Given the description of an element on the screen output the (x, y) to click on. 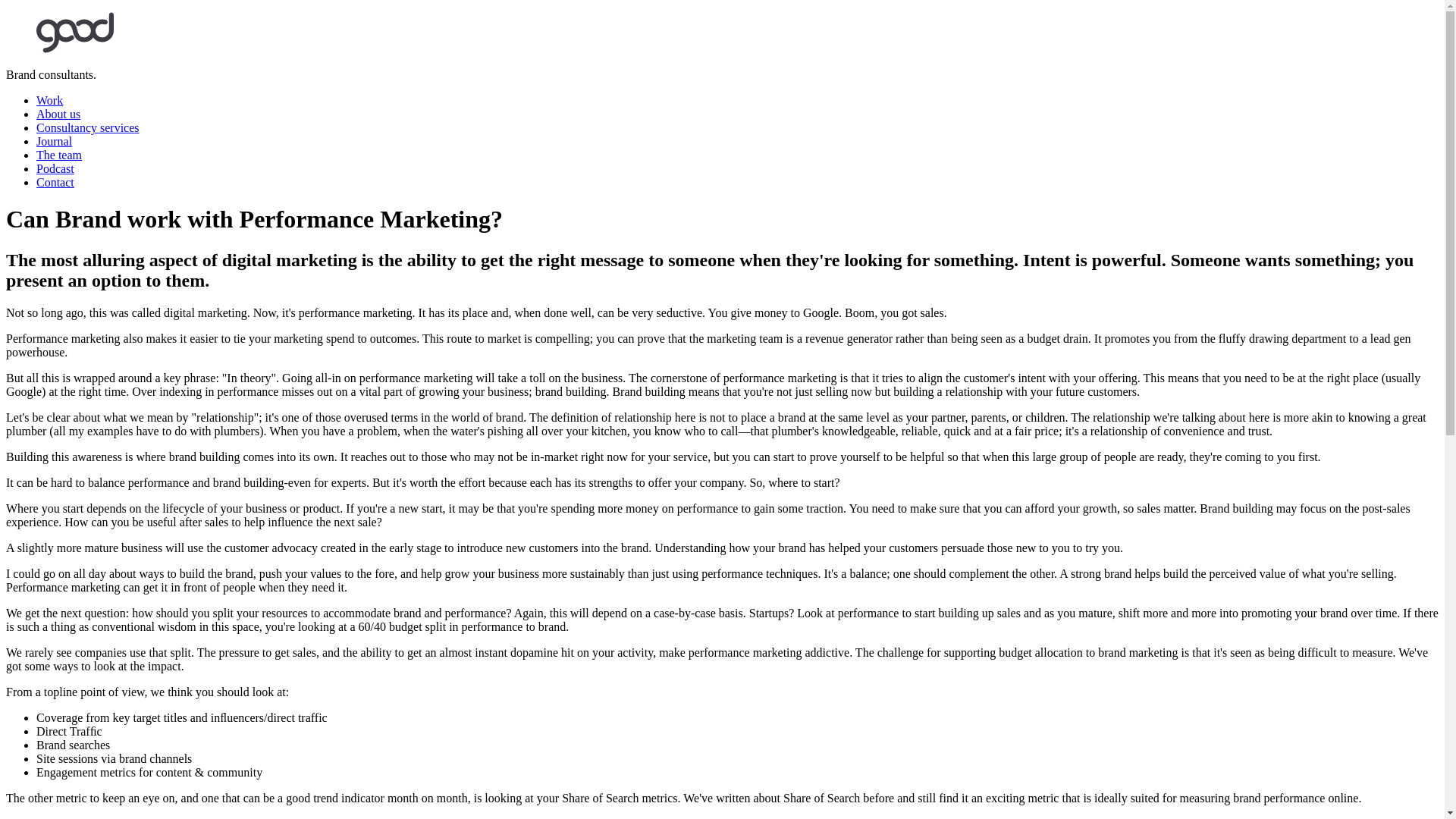
The team (58, 154)
Good (74, 32)
About us (58, 113)
Good (74, 48)
Contact (55, 182)
Journal (53, 141)
Work (49, 100)
Consultancy services (87, 127)
Podcast (55, 168)
